Given the description of an element on the screen output the (x, y) to click on. 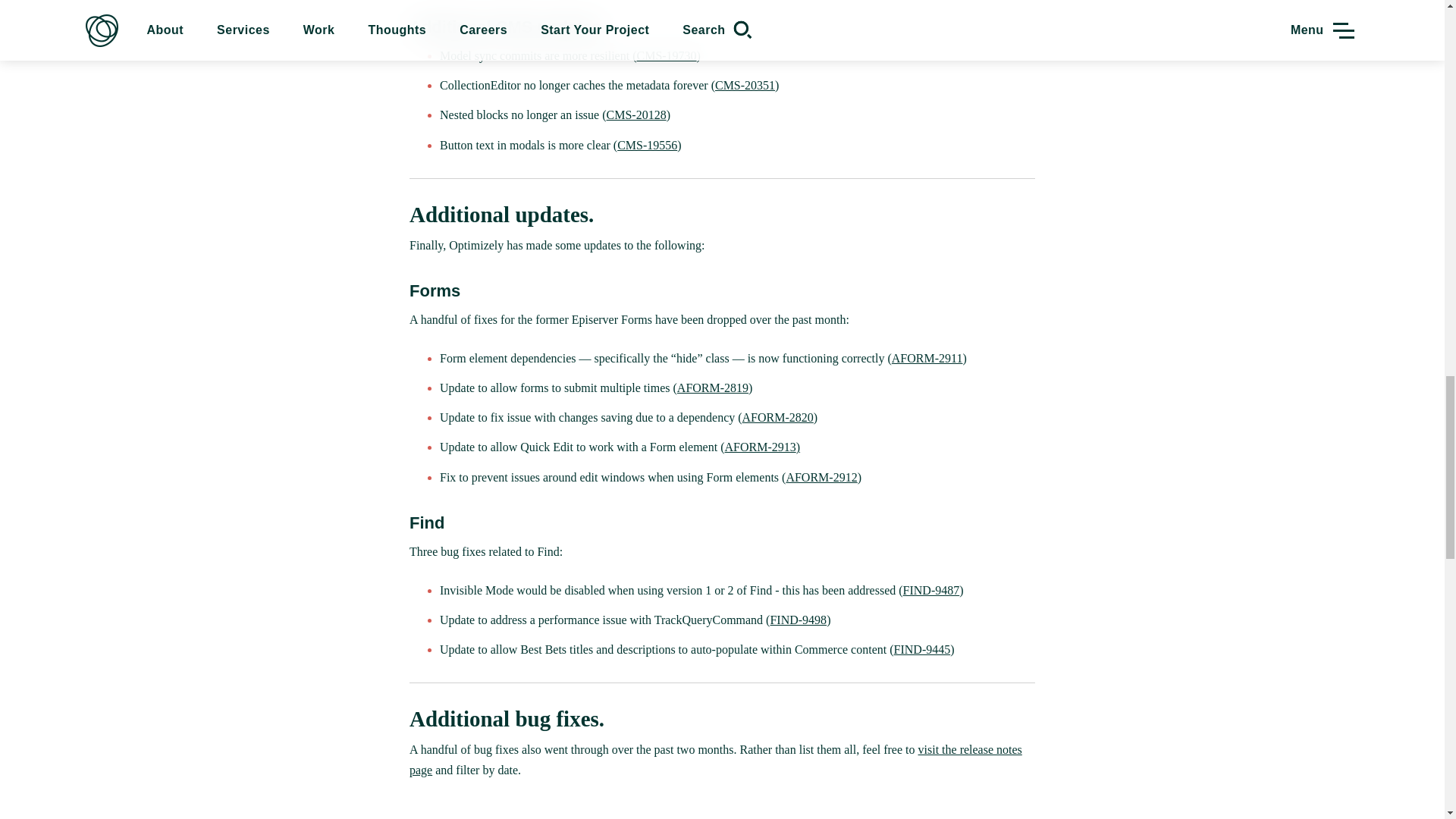
AFORM-2913 (758, 446)
AFORM-2911 (926, 358)
AFORM-2912 (821, 477)
AFORM-2819 (712, 387)
CMS-19556 (647, 144)
AFORM-2820 (777, 417)
CMS-19730 (665, 55)
CMS-20128 (636, 114)
CMS-20351 (744, 84)
